Given the description of an element on the screen output the (x, y) to click on. 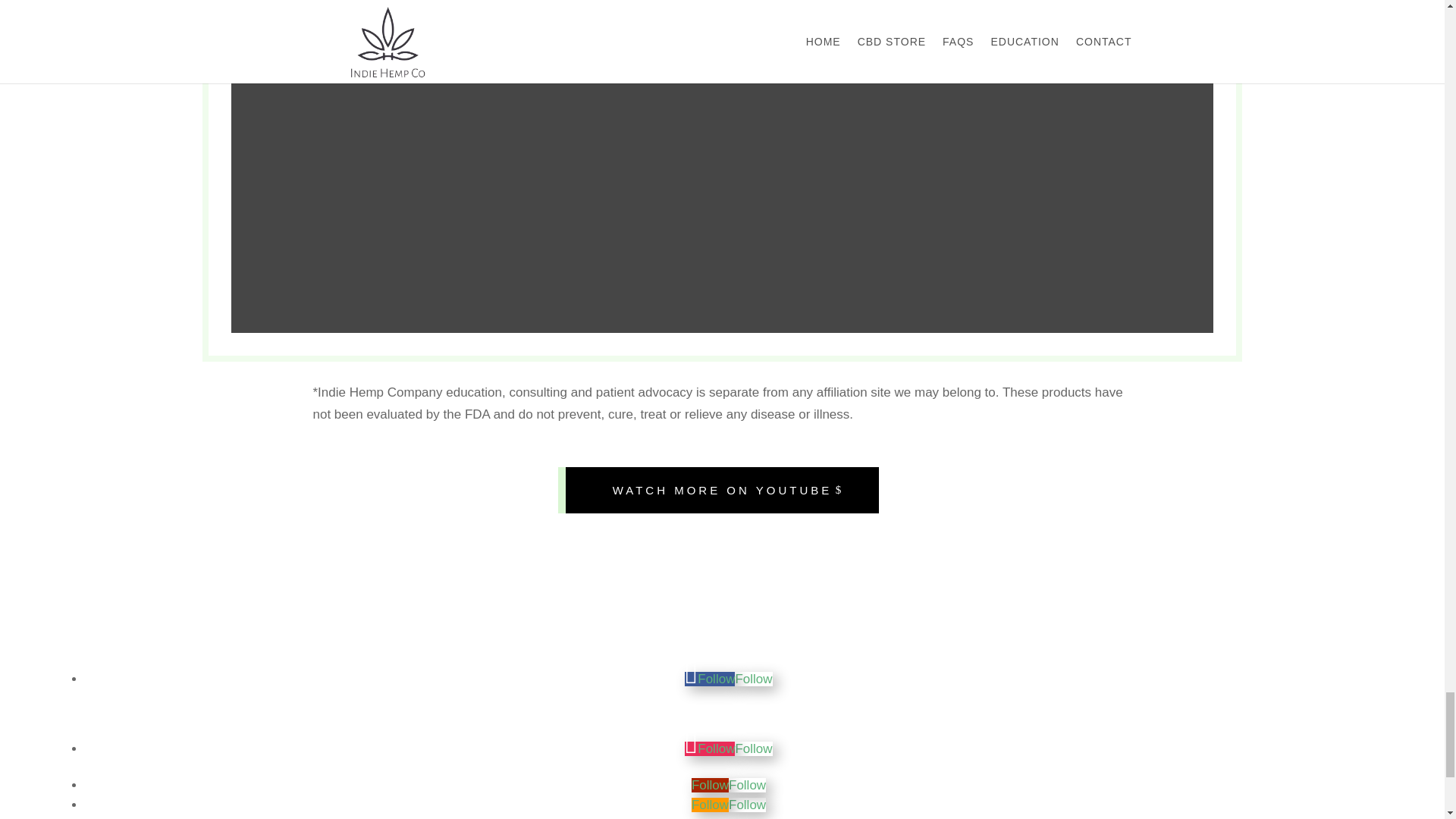
Follow on Instagram (709, 748)
Follow on Facebook (709, 678)
Amazon (747, 804)
Youtube (747, 785)
WATCH MORE ON YOUTUBE (722, 490)
Follow (709, 678)
Facebook (753, 678)
Instagram (753, 748)
Follow on Youtube (710, 785)
Follow on Amazon (710, 804)
